Given the description of an element on the screen output the (x, y) to click on. 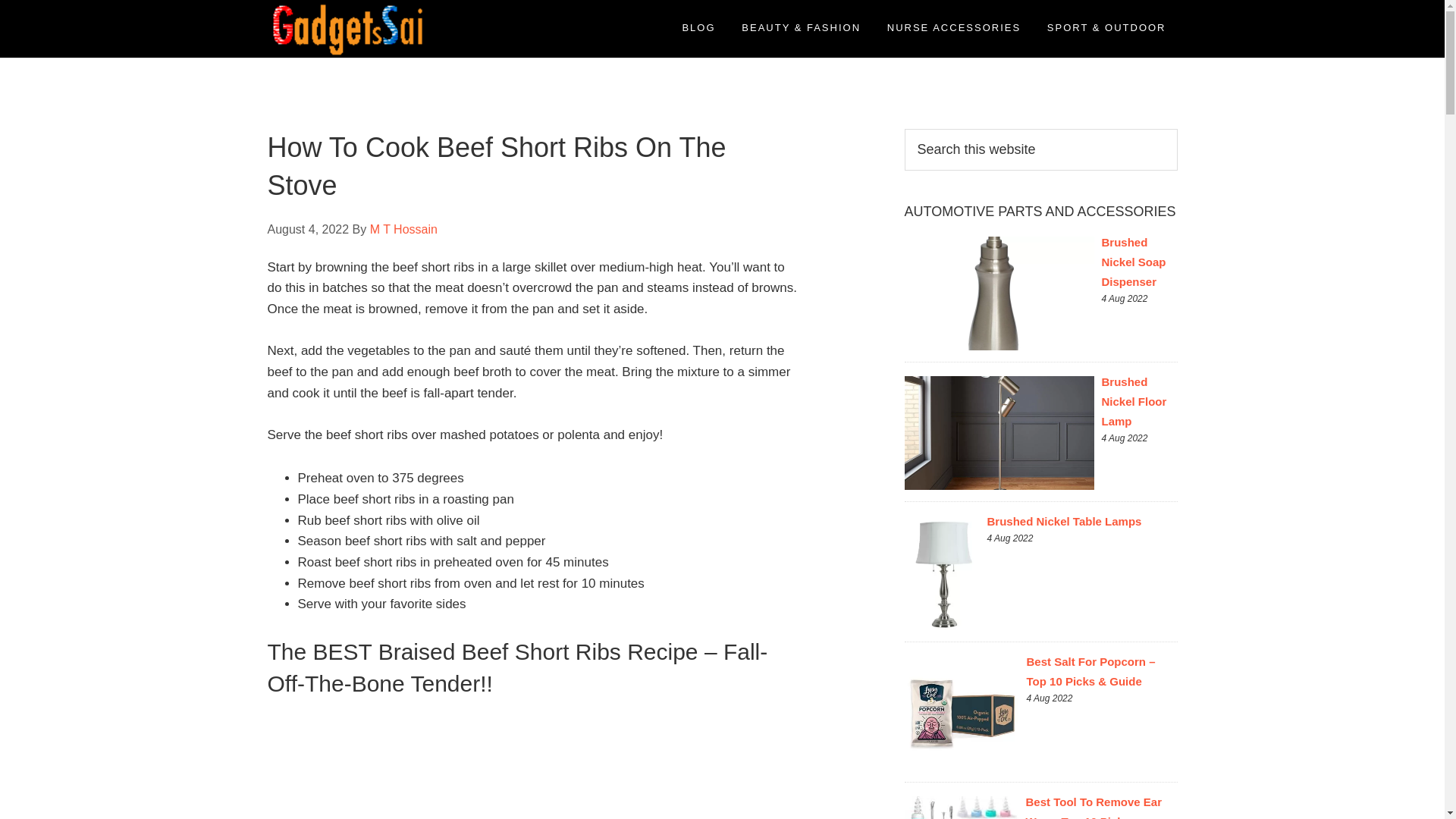
BLOG (697, 27)
Brushed Nickel Floor Lamp (1133, 401)
Brushed Nickel Soap Dispenser (1133, 261)
Brushed Nickel Soap Dispenser (1133, 261)
Brushed Nickel Table Lamps (1064, 521)
AUTOMOTIVE PARTS AND ACCESSORIES (1039, 211)
GadgetsSai (403, 28)
M T Hossain (403, 228)
NURSE ACCESSORIES (954, 27)
Brushed Nickel Table Lamps (1064, 521)
Brushed Nickel Floor Lamp (1133, 401)
